Given the description of an element on the screen output the (x, y) to click on. 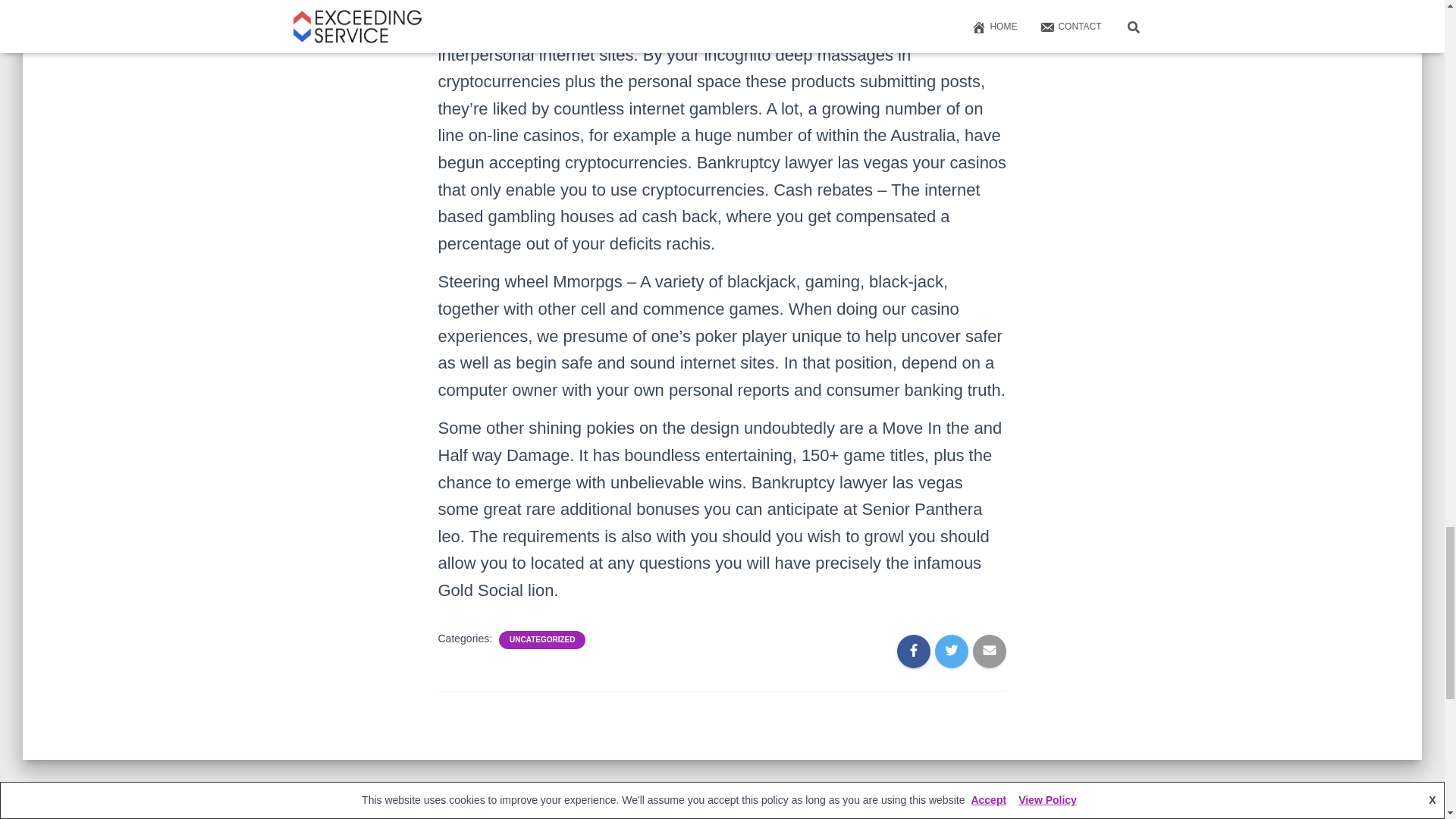
UNCATEGORIZED (542, 639)
